Given the description of an element on the screen output the (x, y) to click on. 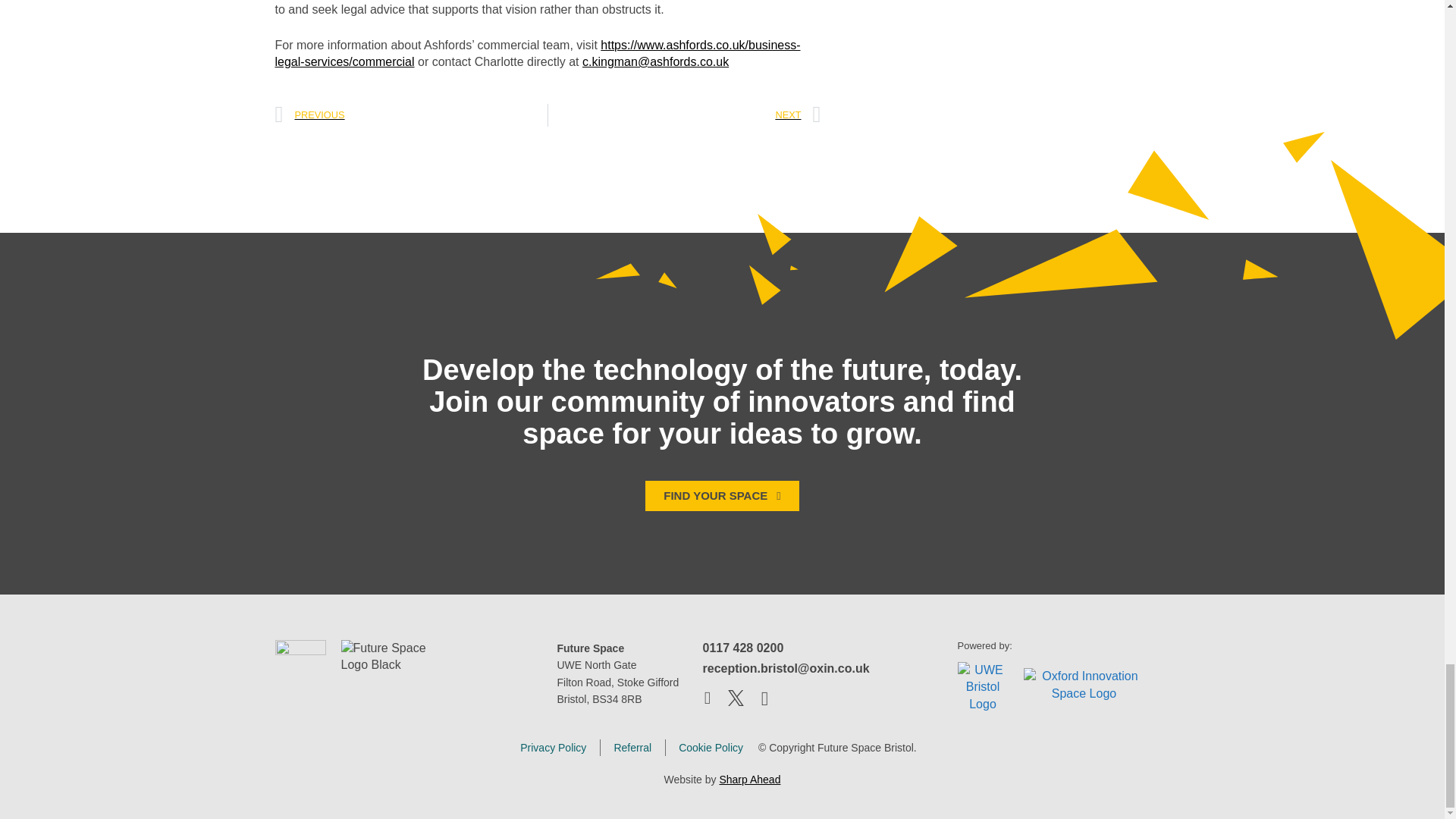
FIND YOUR SPACE (721, 495)
NEXT (684, 115)
PREVIOUS (411, 115)
